Given the description of an element on the screen output the (x, y) to click on. 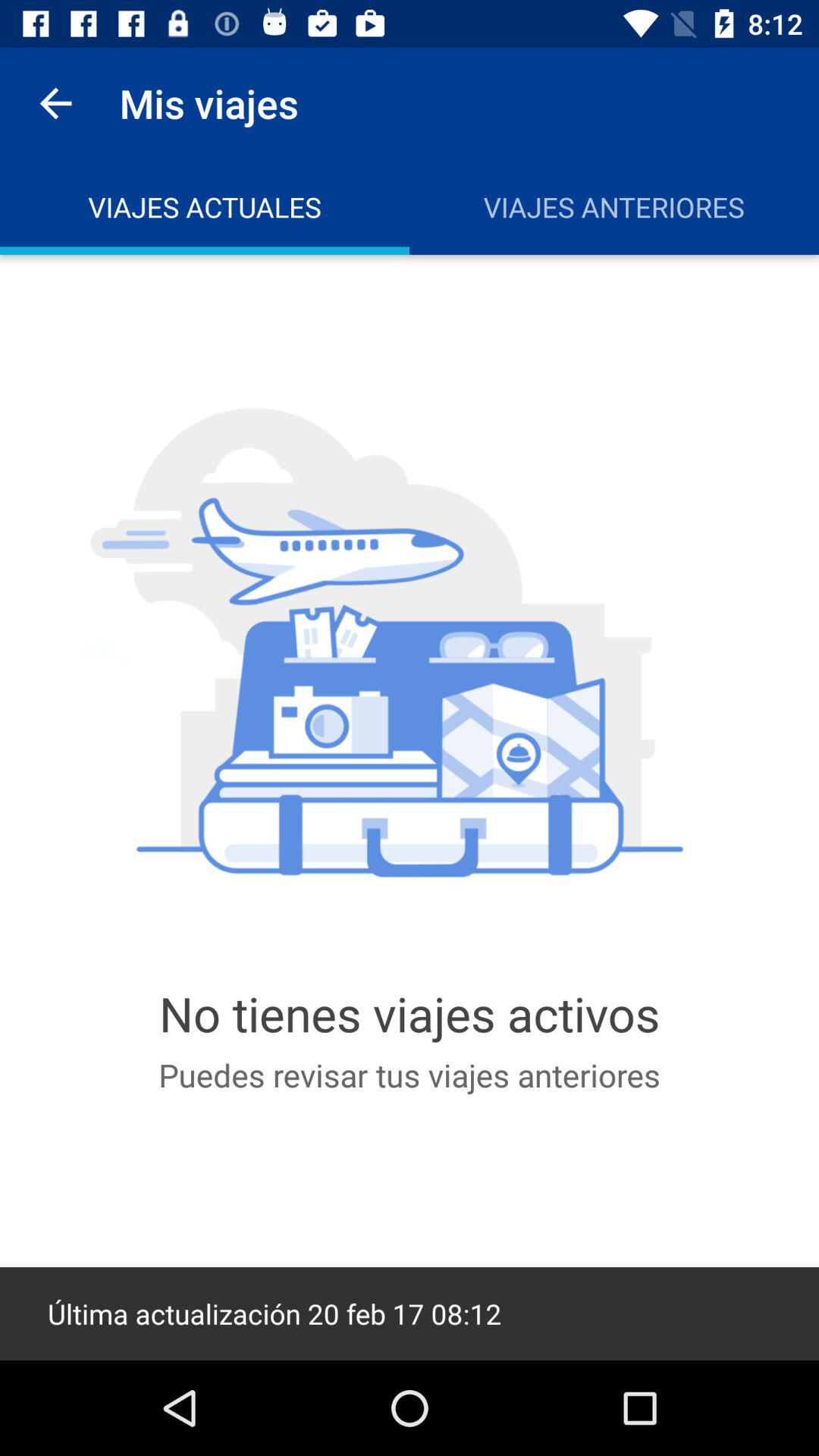
select app next to mis viajes app (55, 103)
